Given the description of an element on the screen output the (x, y) to click on. 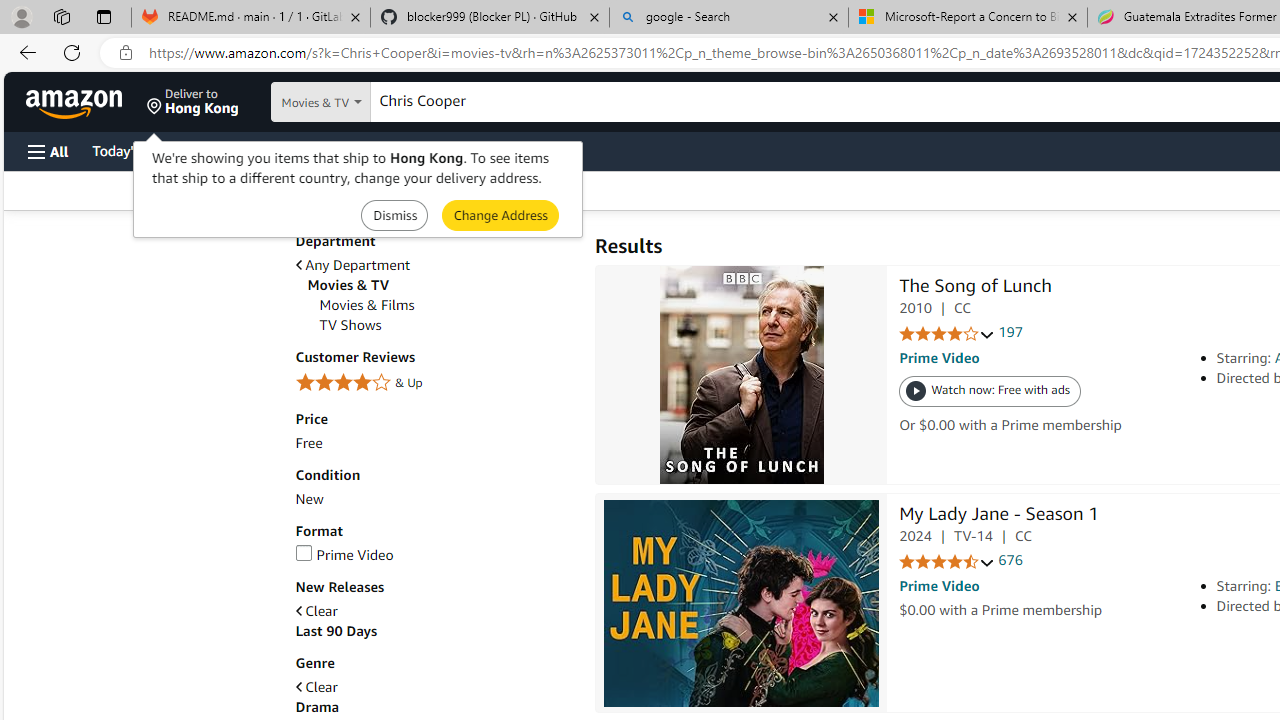
Amazon (76, 101)
4 Stars & Up (434, 383)
Open Menu (48, 151)
Movies & Films (446, 304)
Clear (434, 687)
Today's Deals (134, 150)
Gift Cards (442, 150)
Customer Service (256, 150)
The Song of Lunch (741, 375)
Skip to main content (86, 100)
My Lady Jane - Season 1 (741, 603)
Last 90 Days (434, 631)
